Given the description of an element on the screen output the (x, y) to click on. 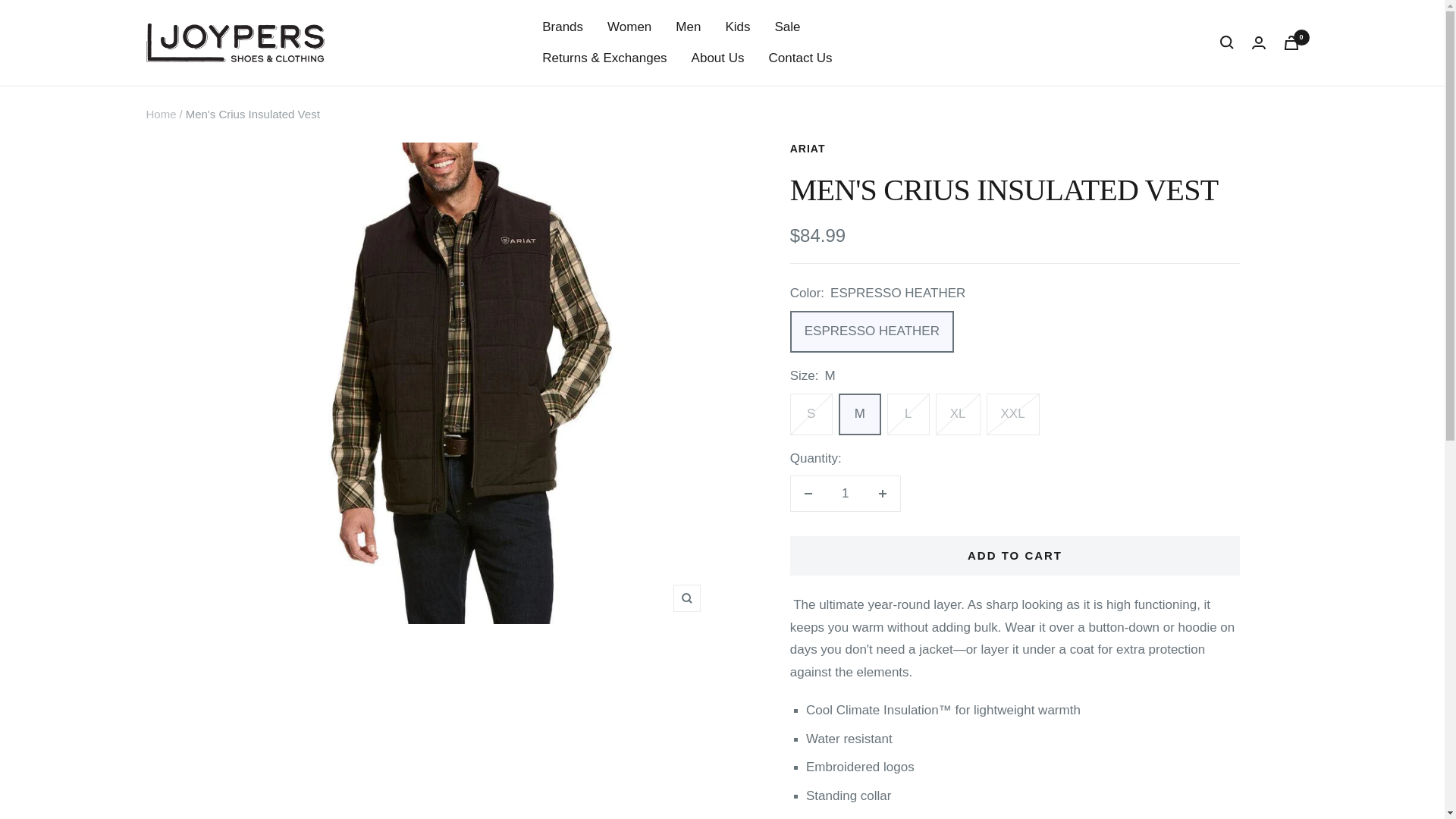
About Us (717, 57)
Zoom (686, 597)
Women (628, 26)
Contact Us (800, 57)
Decrease quantity (807, 493)
Men (687, 26)
1 (844, 493)
Brands (562, 26)
Sale (786, 26)
ADD TO CART (1015, 555)
ARIAT (807, 148)
Joy-Per's Shoes (234, 42)
Increase quantity (881, 493)
Kids (737, 26)
